Given the description of an element on the screen output the (x, y) to click on. 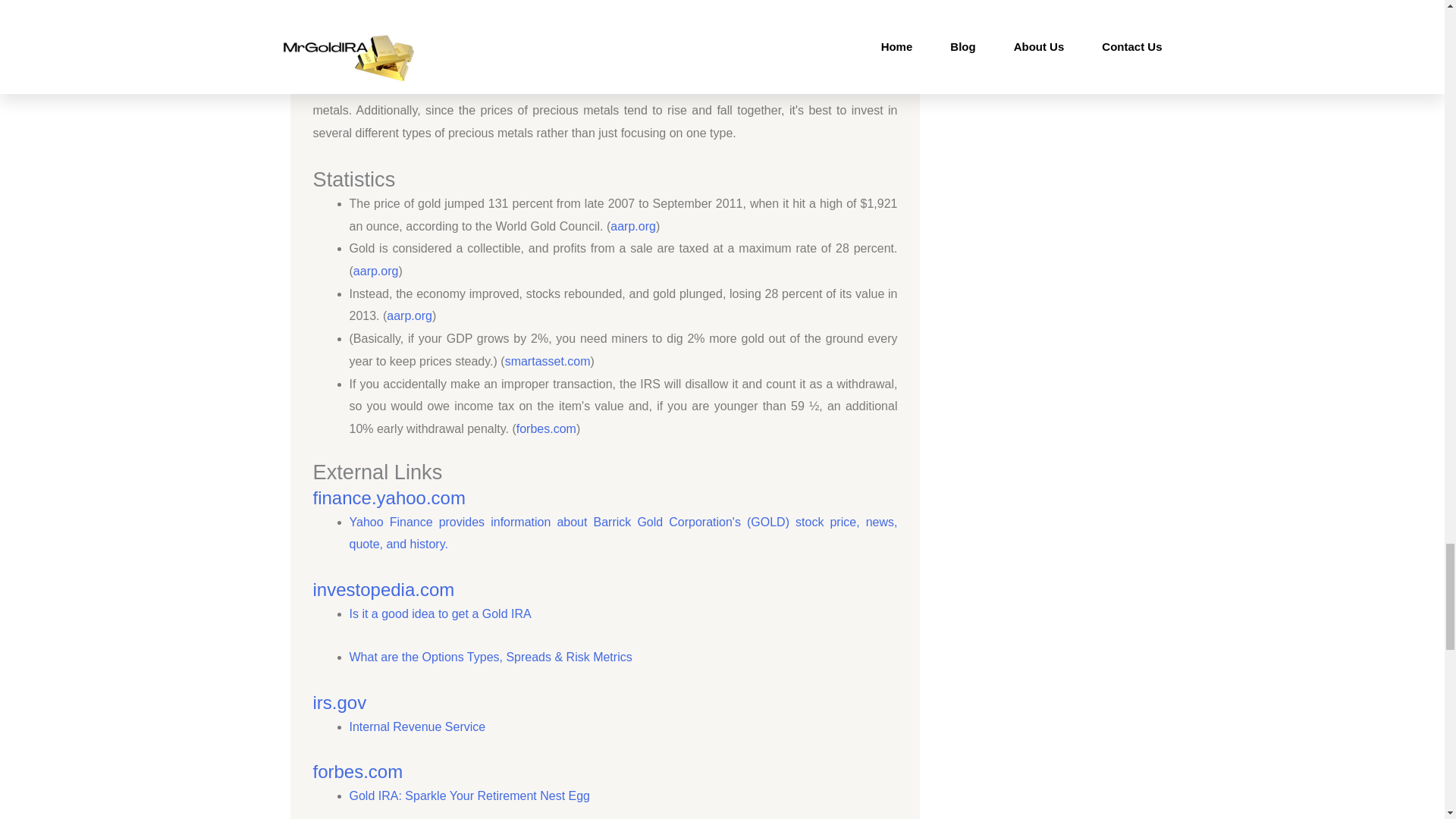
aarp.org (409, 315)
smartasset.com (548, 360)
aarp.org (633, 226)
finance.yahoo.com (388, 497)
aarp.org (375, 270)
Is it a good idea to get a Gold IRA (440, 613)
forbes.com (546, 428)
investopedia.com (383, 589)
